Given the description of an element on the screen output the (x, y) to click on. 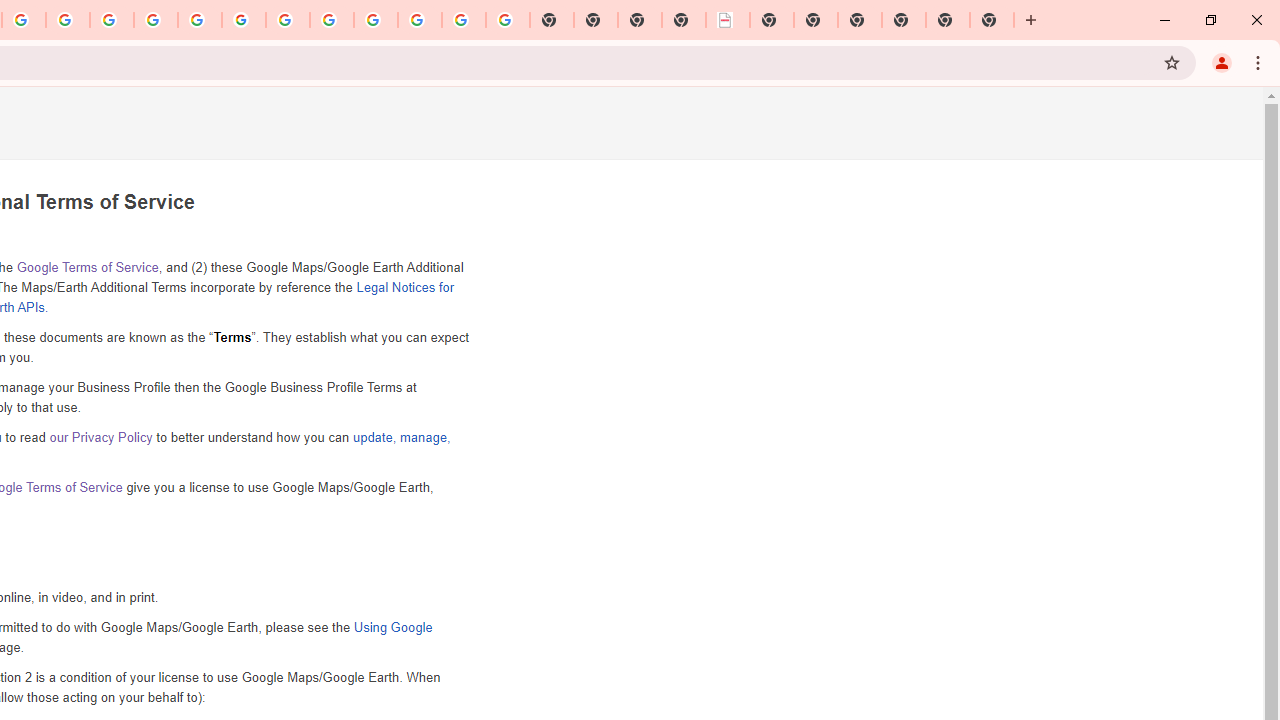
Google Terms of Service (86, 267)
New Tab (859, 20)
New Tab (903, 20)
Privacy Help Center - Policies Help (111, 20)
YouTube (287, 20)
